Given the description of an element on the screen output the (x, y) to click on. 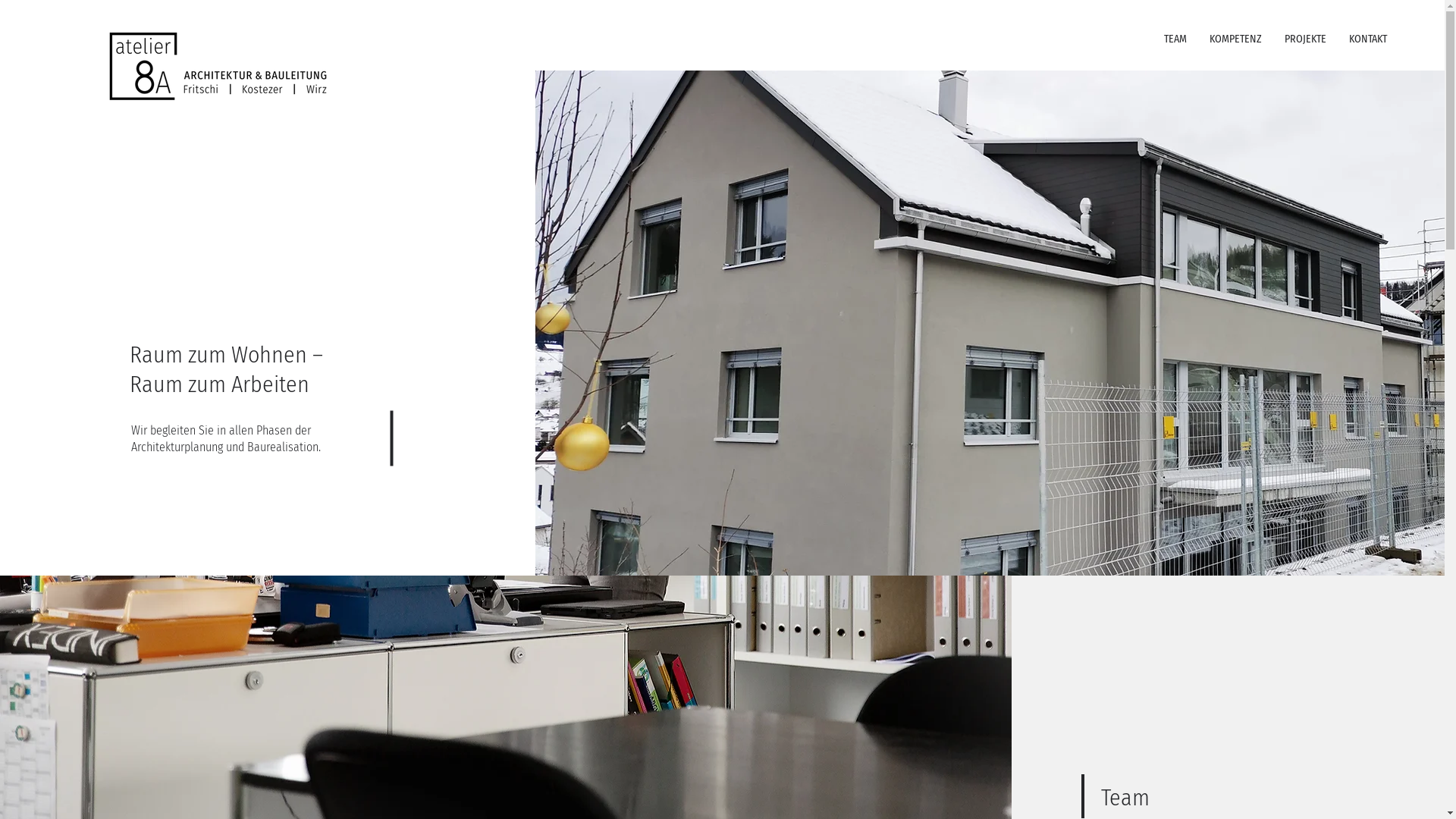
PROJEKTE Element type: text (1305, 39)
KOMPETENZ Element type: text (1235, 39)
TEAM Element type: text (1175, 39)
KONTAKT Element type: text (1367, 39)
